Given the description of an element on the screen output the (x, y) to click on. 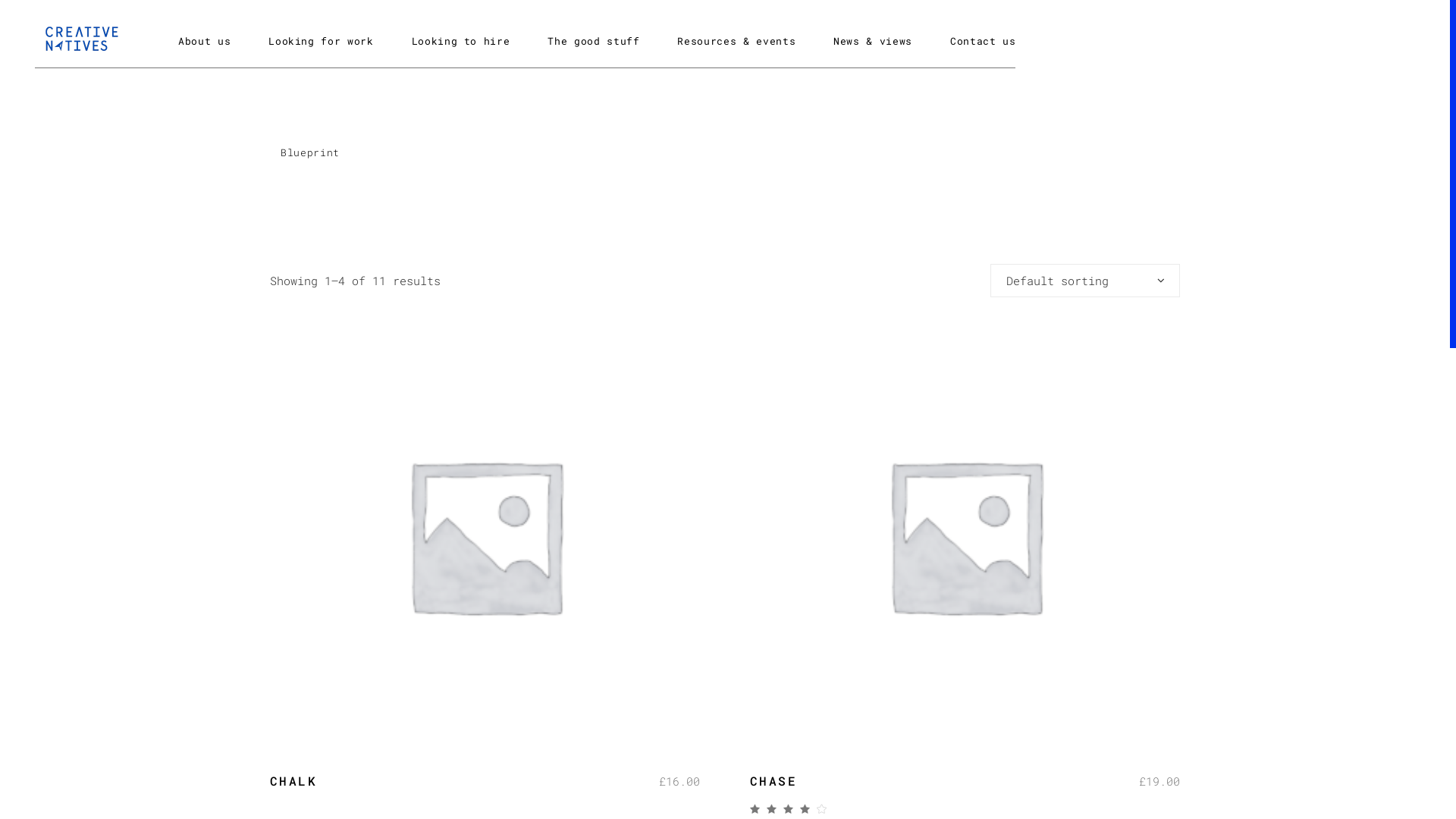
CHASE Element type: text (773, 780)
News & views Element type: text (872, 40)
CHALK Element type: text (292, 780)
Resources & events Element type: text (736, 40)
Looking to hire Element type: text (460, 40)
The good stuff Element type: text (593, 40)
About us Element type: text (213, 40)
Looking for work Element type: text (320, 40)
Contact us Element type: text (973, 40)
